Given the description of an element on the screen output the (x, y) to click on. 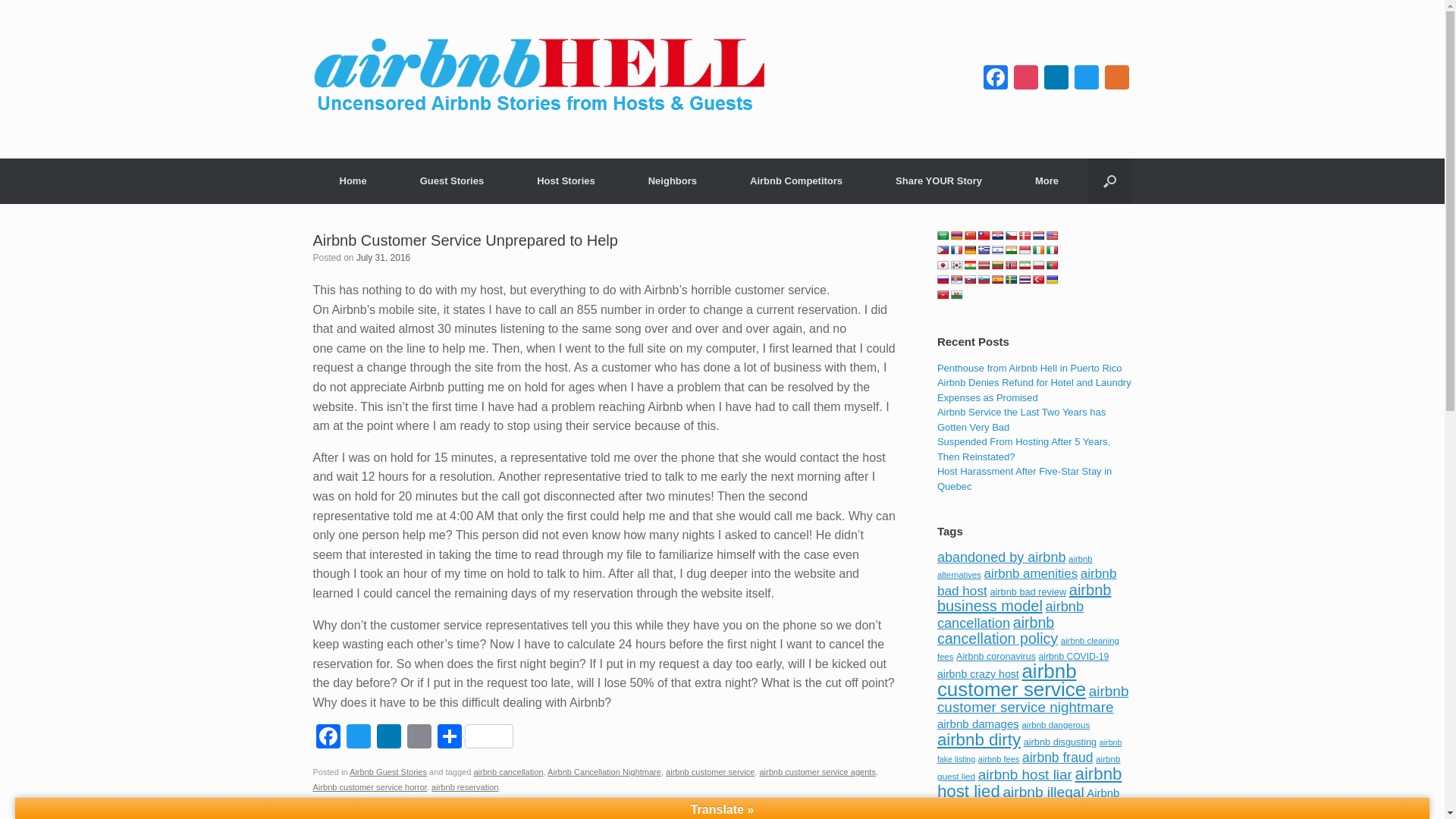
Airbnb Cancellation Nightmare (604, 771)
Twitter (357, 737)
Airbnb Guest Stories (387, 771)
July 31, 2016 (383, 256)
Read uncensored stories from Airbnb hosts (566, 180)
Twitter (1085, 79)
Share (474, 737)
Neighbors (672, 180)
Email (418, 737)
Host Stories (566, 180)
airbnb cancellation (508, 771)
airbnb customer service agents (817, 771)
Facebook (327, 737)
airbnb customer service (709, 771)
Facebook (994, 79)
